Given the description of an element on the screen output the (x, y) to click on. 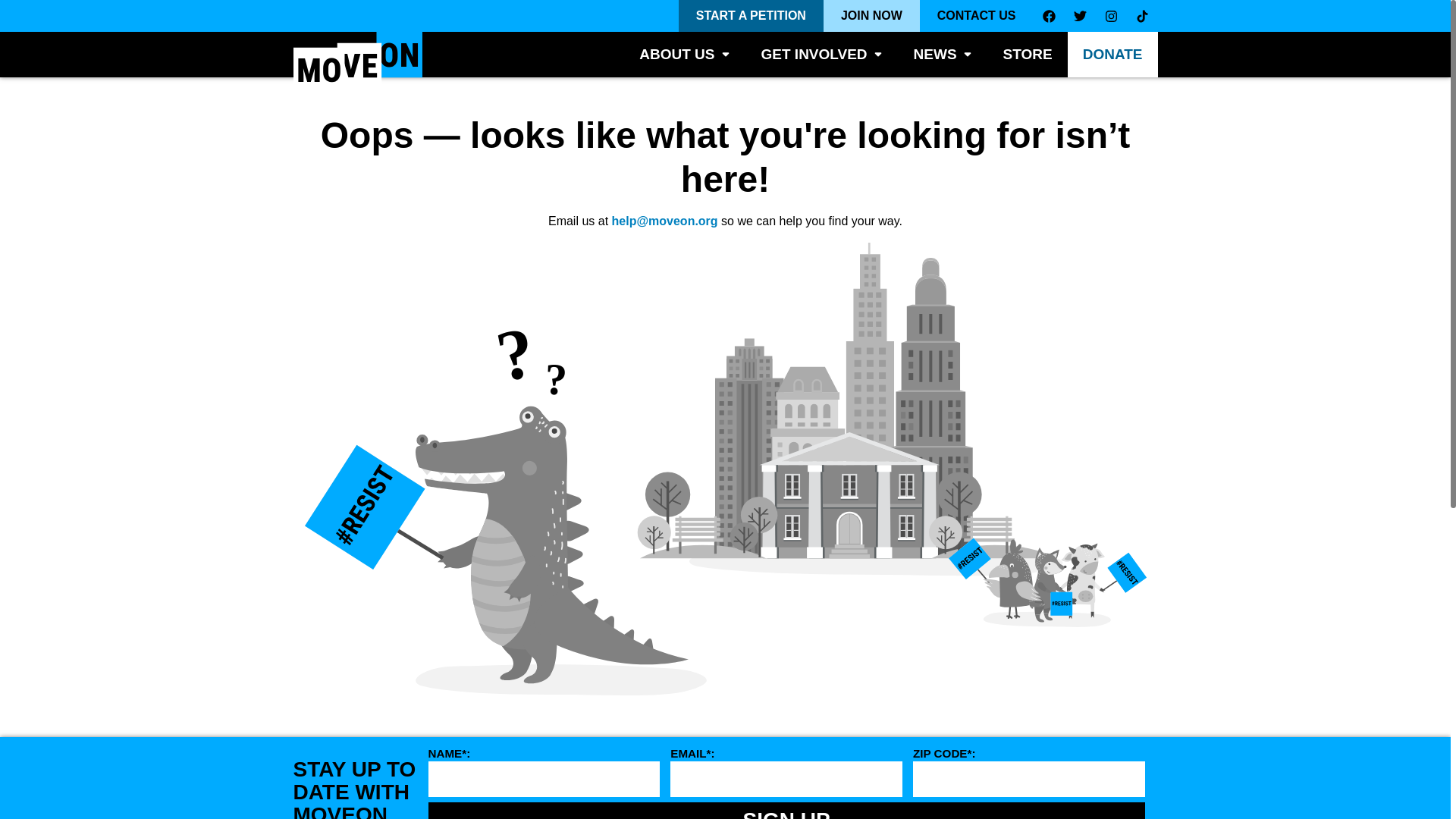
SIGN UP (786, 810)
CONTACT US (976, 15)
STORE (1027, 53)
START A PETITION (751, 15)
JOIN NOW (872, 15)
DONATE (1112, 53)
